Given the description of an element on the screen output the (x, y) to click on. 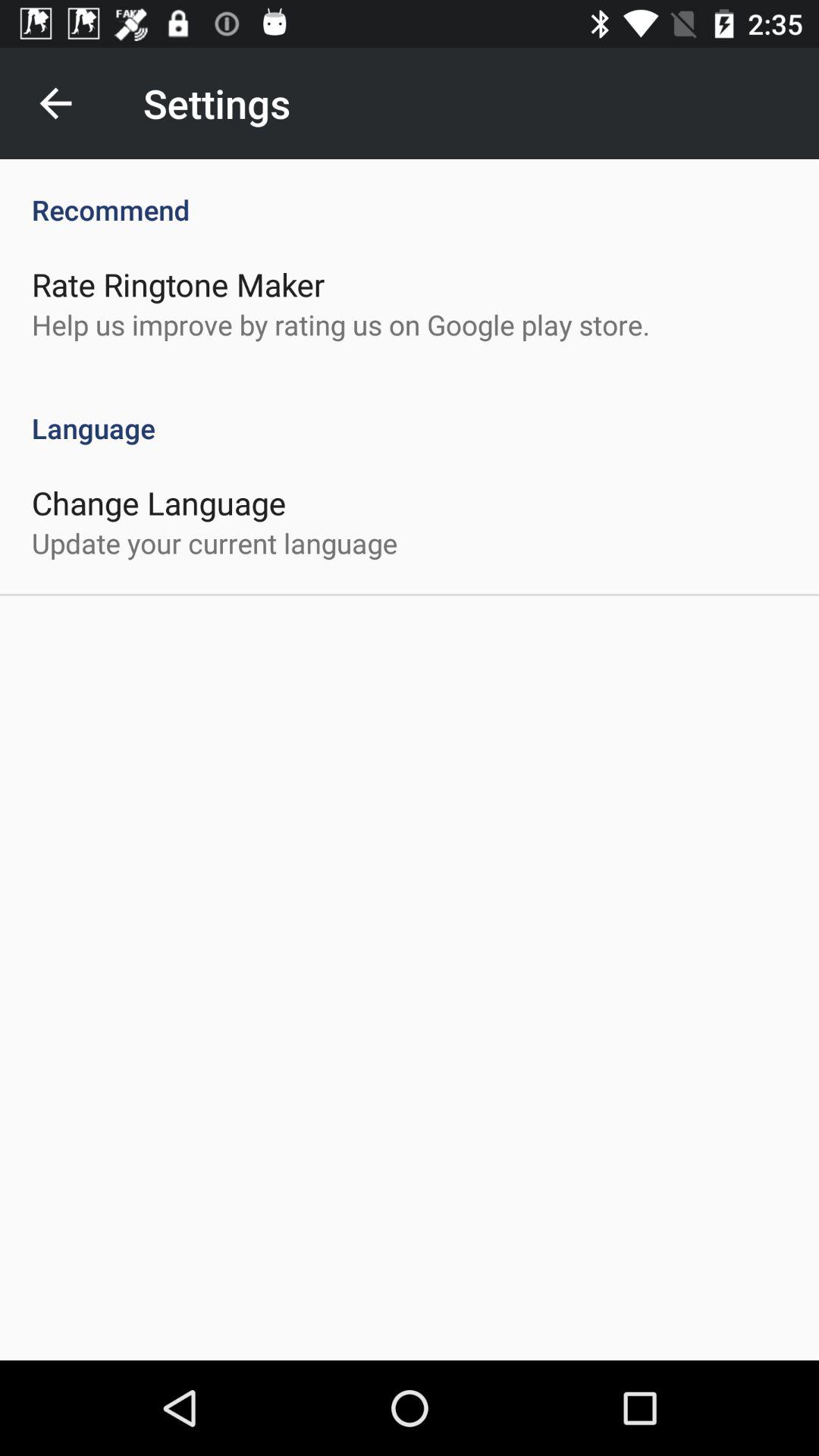
swipe to change language icon (158, 502)
